Given the description of an element on the screen output the (x, y) to click on. 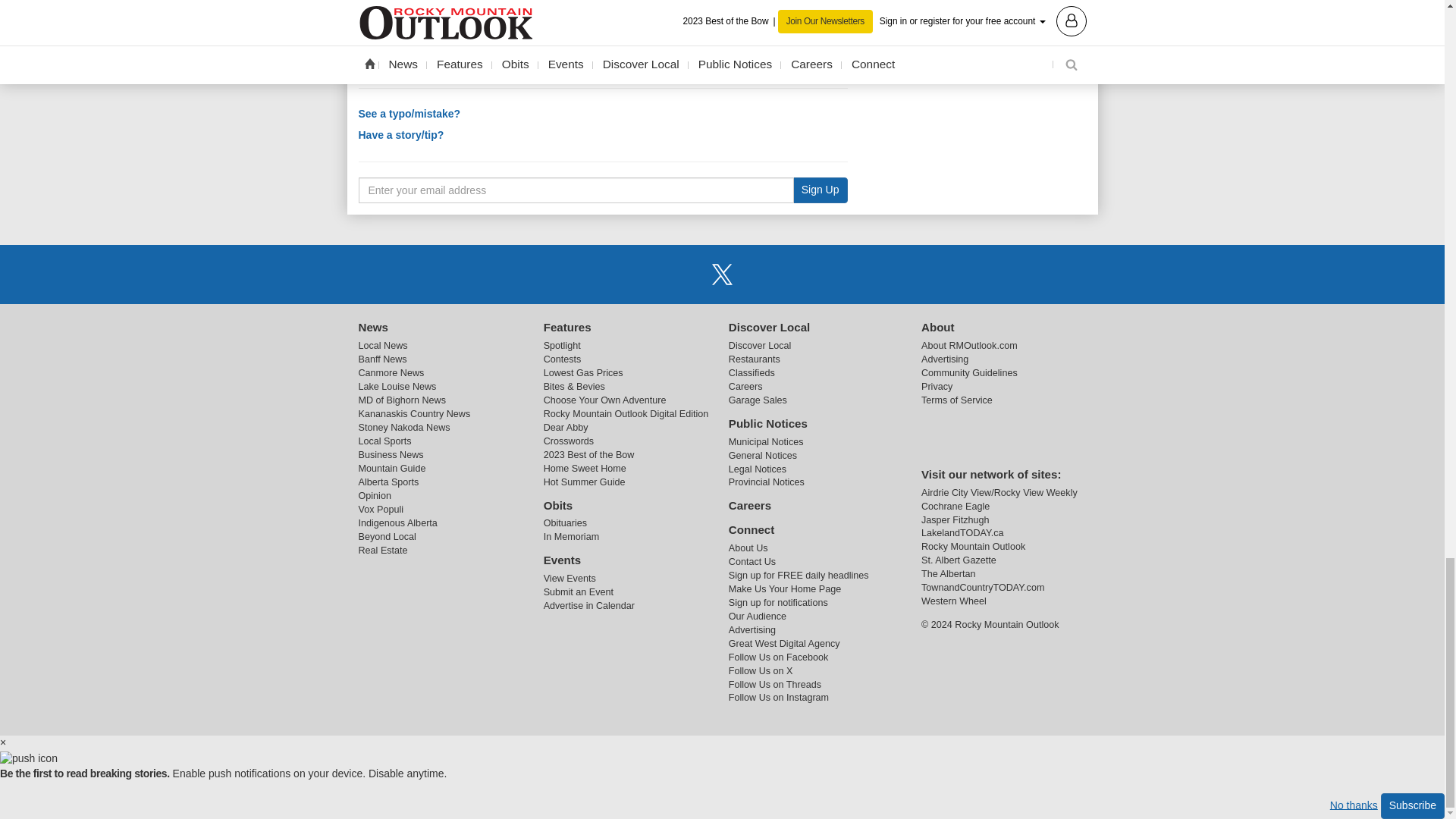
Instagram (760, 274)
X (721, 274)
Facebook (683, 274)
